Given the description of an element on the screen output the (x, y) to click on. 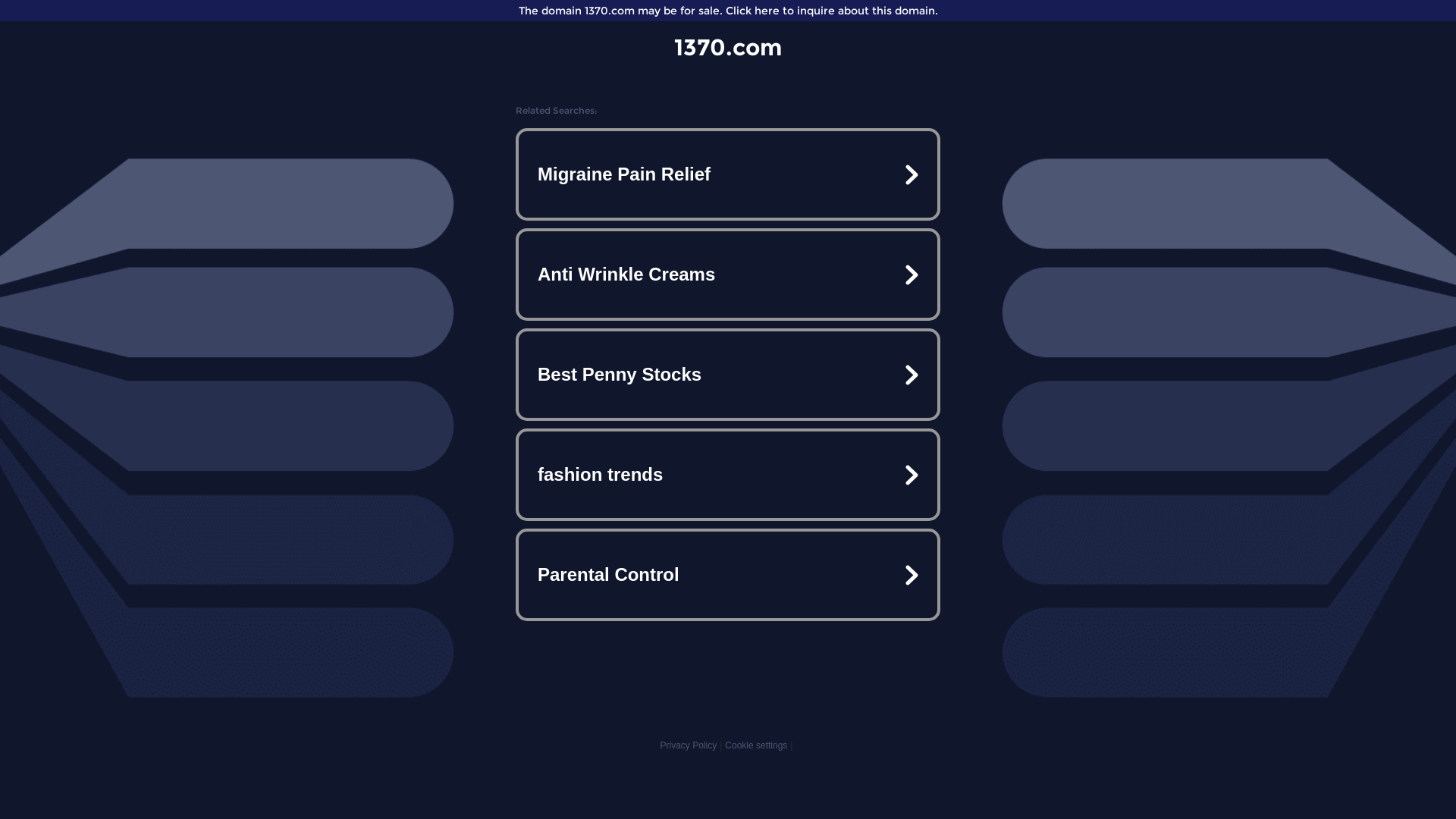
Cookie settings Element type: text (755, 745)
Best Penny Stocks Element type: text (727, 374)
1370.com Element type: text (727, 47)
Privacy Policy Element type: text (687, 745)
Anti Wrinkle Creams Element type: text (727, 274)
Parental Control Element type: text (727, 574)
Migraine Pain Relief Element type: text (727, 174)
fashion trends Element type: text (727, 474)
